Given the description of an element on the screen output the (x, y) to click on. 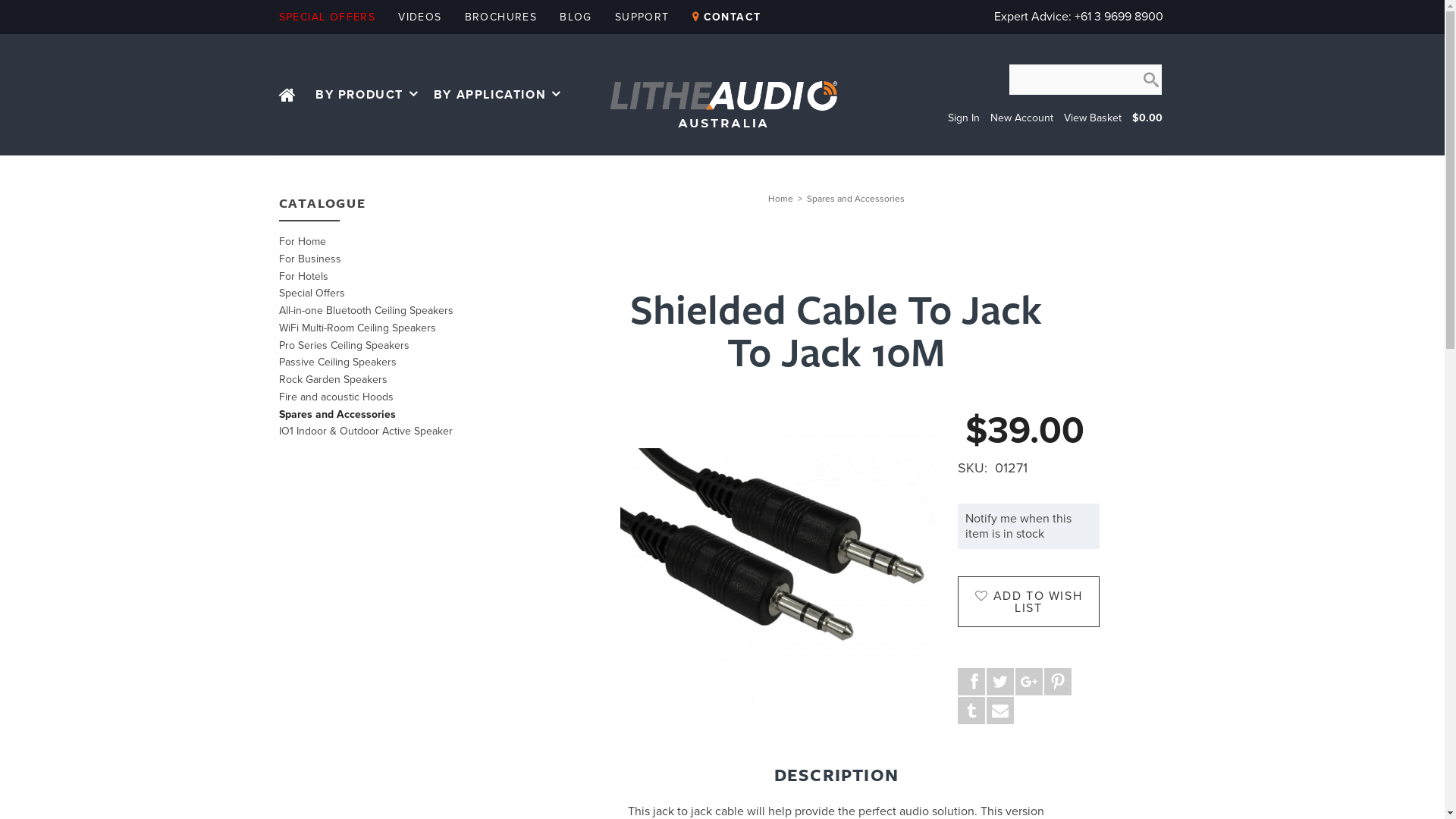
All-in-one Bluetooth Ceiling Speakers Element type: text (366, 310)
Notify me when this item is in stock Element type: text (1018, 526)
  Element type: text (290, 97)
For Home Element type: text (302, 241)
WiFi Multi-Room Ceiling Speakers Element type: text (357, 327)
Spares and Accessories Element type: text (337, 413)
VIDEOS Element type: text (419, 17)
SPECIAL OFFERS Element type: text (327, 17)
$0.00 Element type: text (1146, 117)
Rock Garden Speakers Element type: text (333, 379)
BLOG Element type: text (575, 17)
CONTACT Element type: text (726, 17)
SUPPORT Element type: text (642, 17)
Fire and acoustic Hoods Element type: text (336, 396)
ADD TO WISH LIST Element type: text (1028, 601)
Spares and Accessories Element type: text (855, 197)
For Hotels Element type: text (303, 275)
IO1 Indoor & Outdoor Active Speaker Element type: text (365, 430)
Special Offers Element type: text (312, 292)
New Account Element type: text (1021, 117)
Go Element type: hover (1150, 82)
Sign In Element type: text (963, 117)
BROCHURES Element type: text (500, 17)
Pro Series Ceiling Speakers Element type: text (344, 344)
Passive Ceiling Speakers Element type: text (337, 361)
Home Element type: text (780, 197)
For Business Element type: text (310, 258)
View Basket Element type: text (1091, 117)
